Given the description of an element on the screen output the (x, y) to click on. 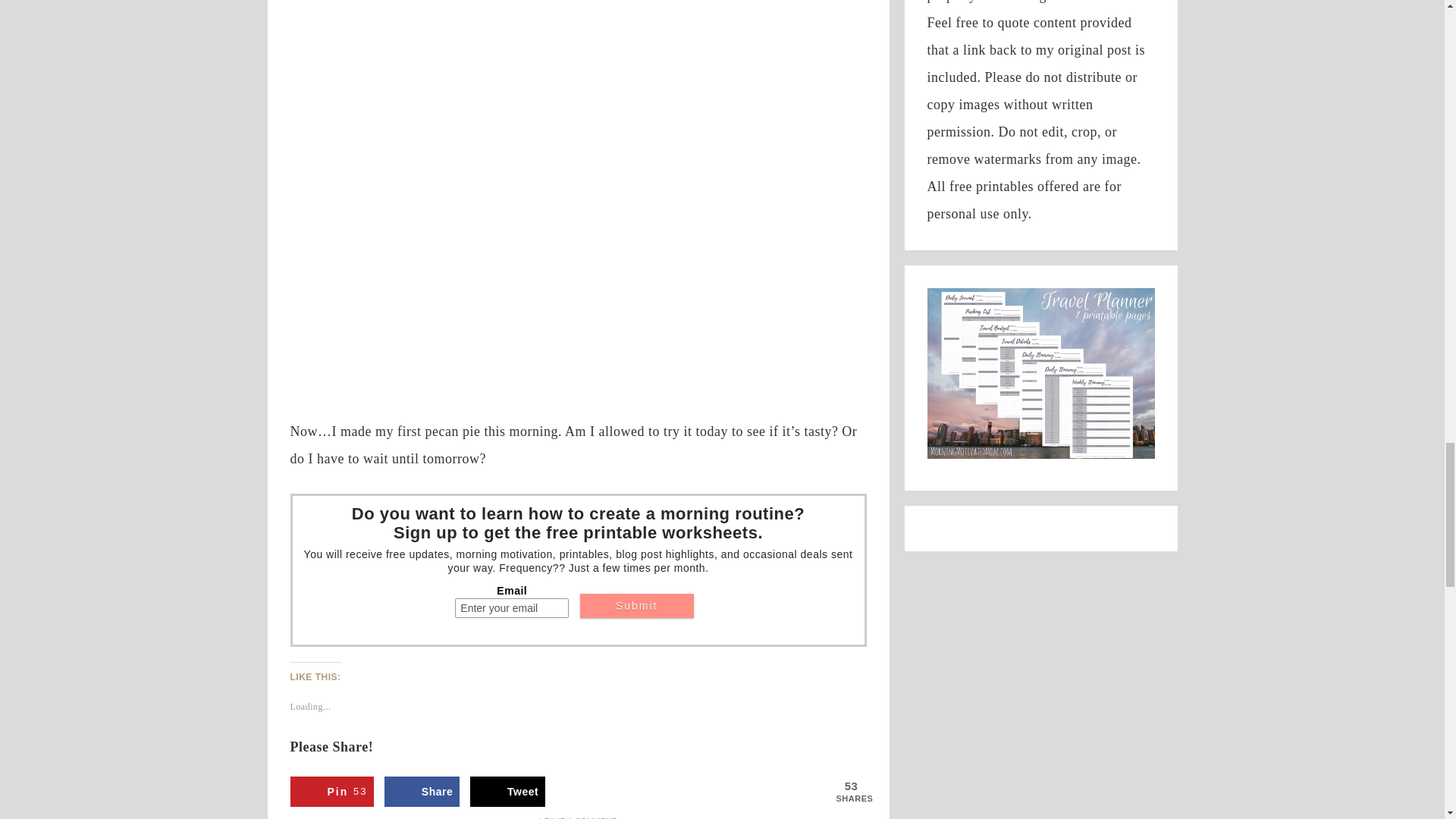
Share on X (507, 791)
Submit (636, 604)
Submit (636, 604)
Save to Pinterest (331, 791)
Share on Facebook (331, 791)
Tweet (422, 791)
Share (507, 791)
